Given the description of an element on the screen output the (x, y) to click on. 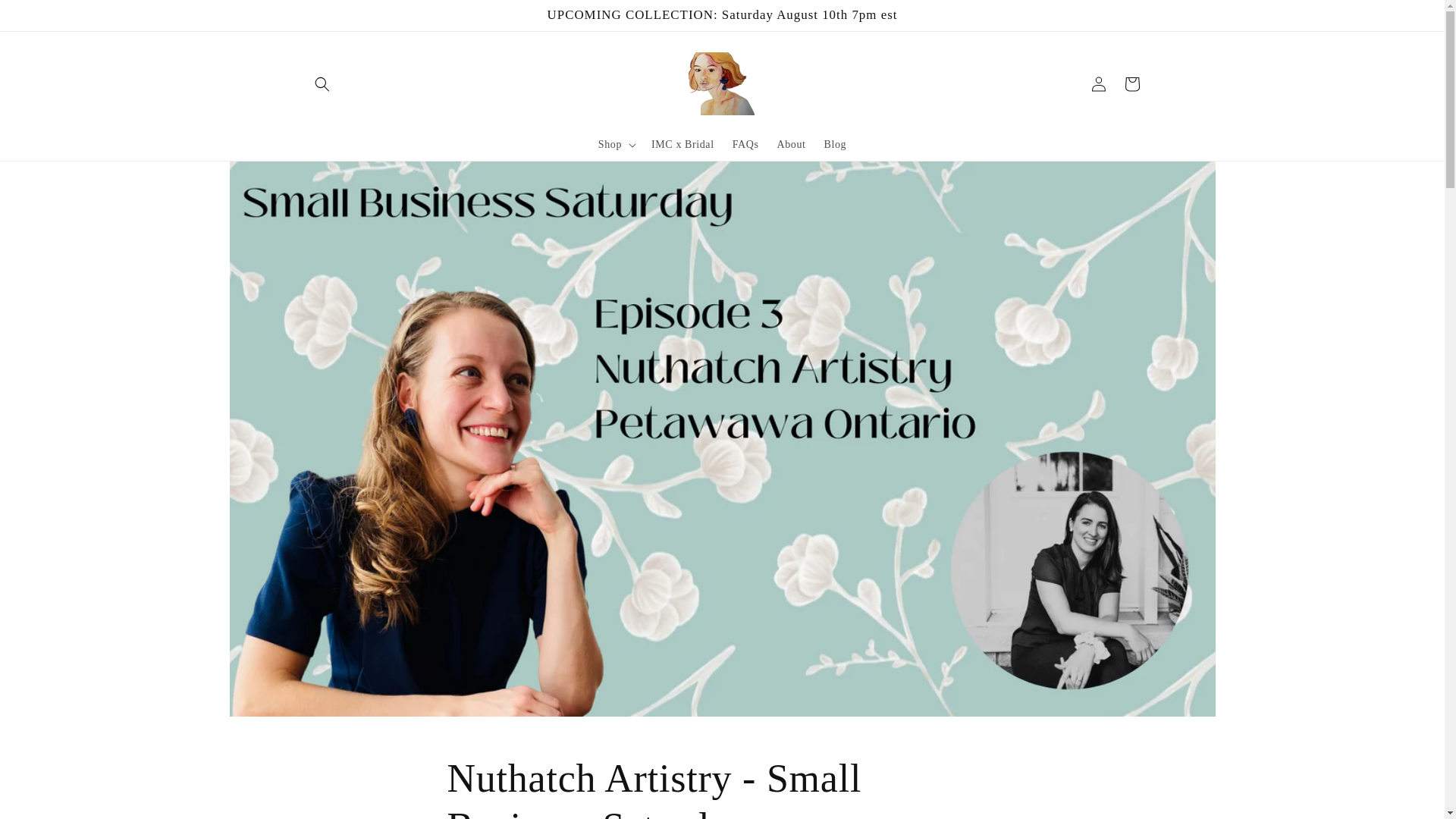
Blog (835, 144)
FAQs (745, 144)
Skip to content (45, 17)
Cart (1131, 83)
About (791, 144)
Log in (1098, 83)
IMC x Bridal (682, 144)
